Given the description of an element on the screen output the (x, y) to click on. 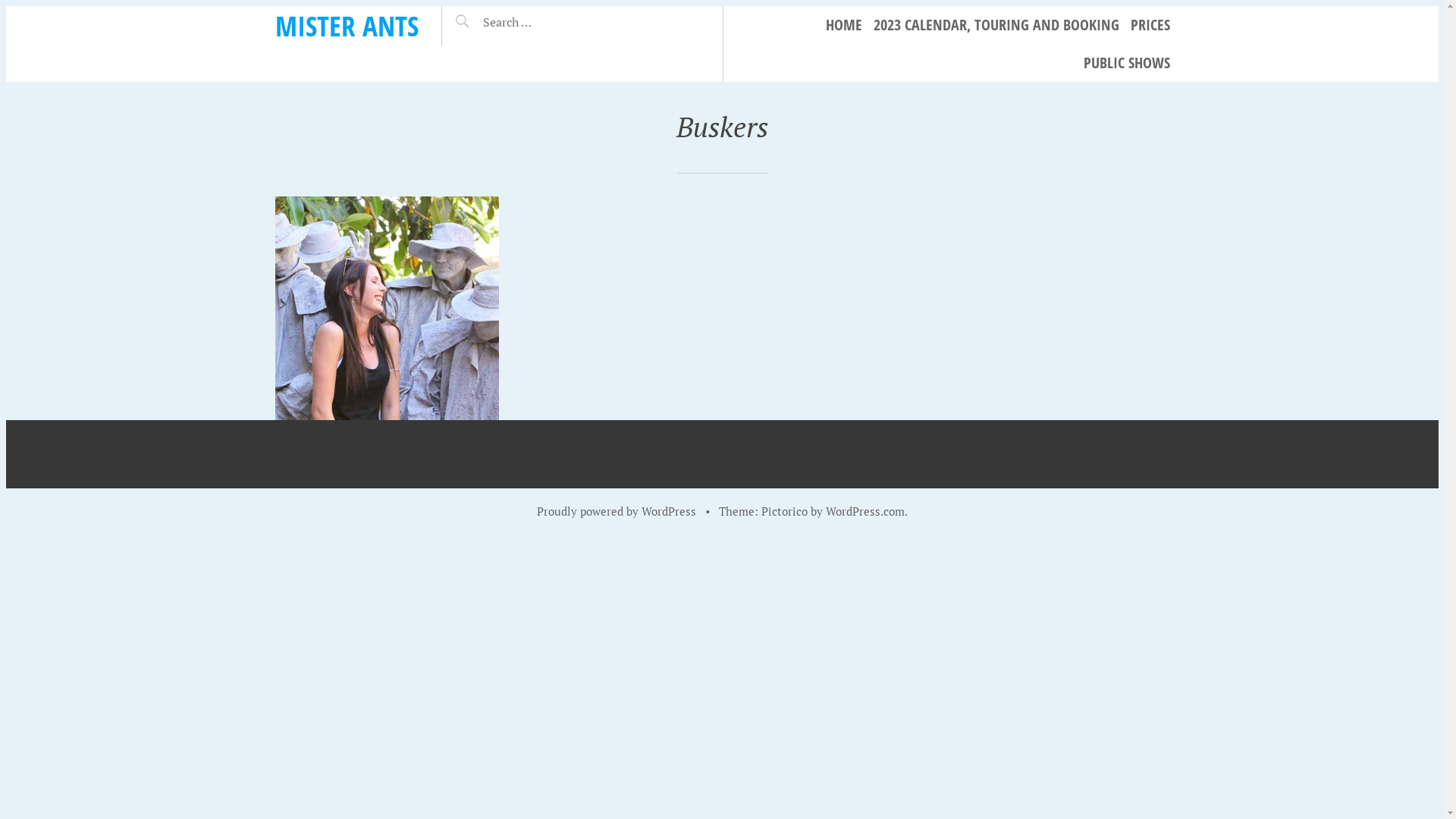
Search Element type: text (537, 15)
Stone Stockmen Element type: hover (386, 308)
MISTER ANTS Element type: text (345, 25)
2023 CALENDAR, TOURING AND BOOKING Element type: text (996, 24)
PRICES Element type: text (1149, 24)
HOME Element type: text (843, 24)
PUBLIC SHOWS Element type: text (1125, 62)
WordPress.com Element type: text (864, 510)
Proudly powered by WordPress Element type: text (616, 510)
Search for: Element type: hover (545, 21)
